Given the description of an element on the screen output the (x, y) to click on. 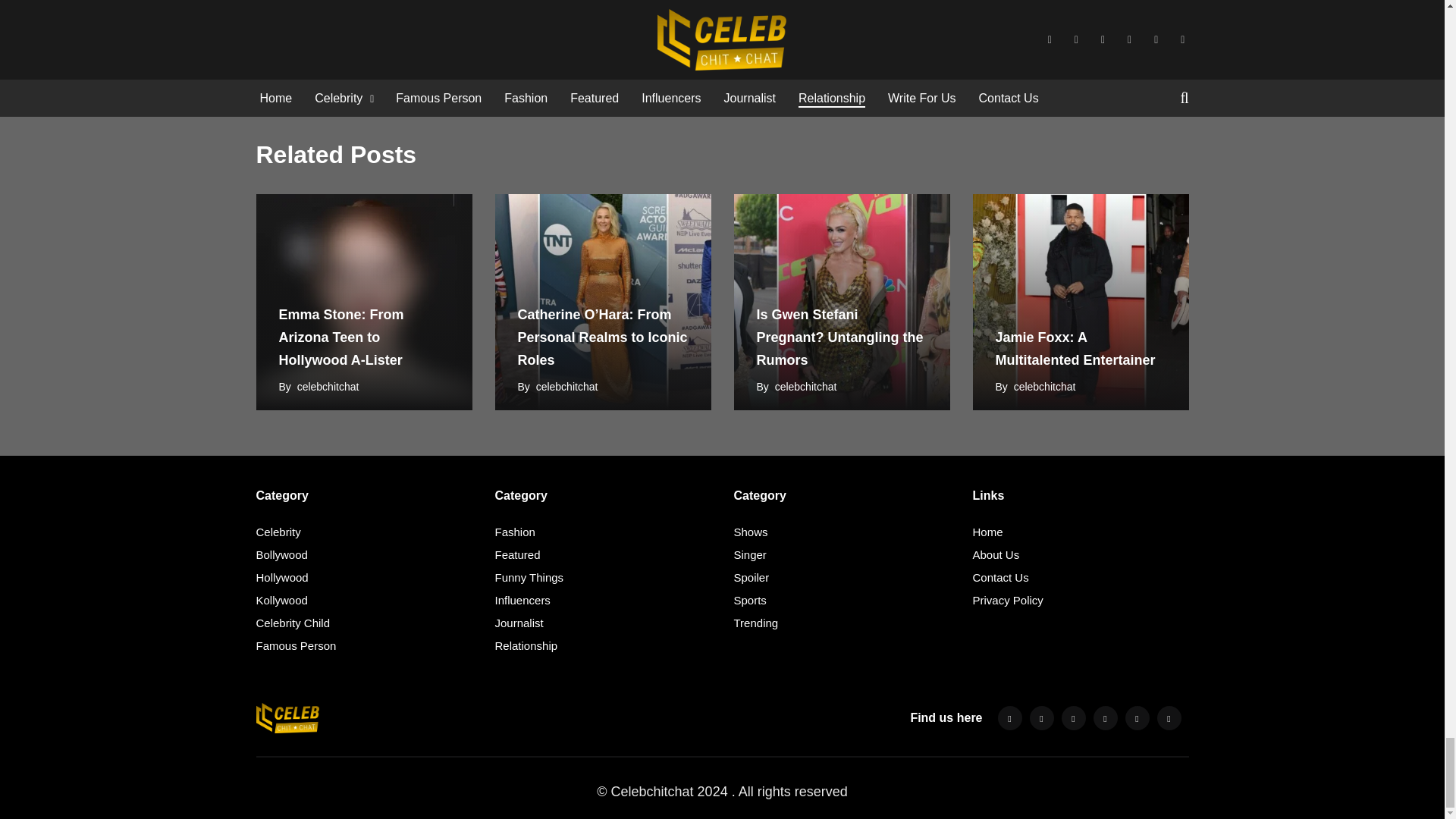
Posts by celebchitchat (805, 386)
Is Gwen Stefani Pregnant? Untangling the Rumors (841, 302)
Posts by celebchitchat (1044, 386)
Posts by celebchitchat (328, 386)
Jamie Foxx: A Multitalented Entertainer (1080, 302)
Emma Stone: From Arizona Teen to Hollywood A-Lister (363, 302)
Posts by celebchitchat (566, 386)
